Given the description of an element on the screen output the (x, y) to click on. 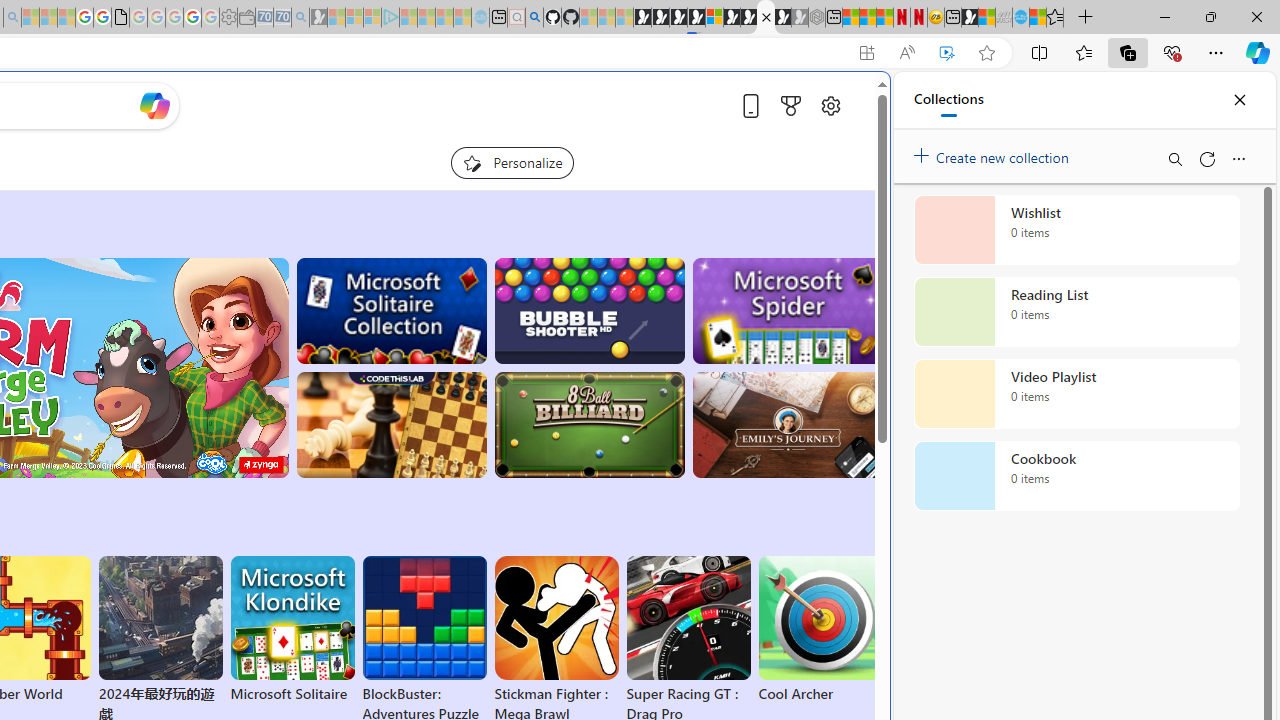
Close split screen (844, 102)
Settings - Sleeping (228, 17)
Search or enter web address (343, 191)
More options menu (1238, 158)
Services - Maintenance | Sky Blue Bikes - Sky Blue Bikes (1020, 17)
Microsoft Solitaire (292, 629)
